Given the description of an element on the screen output the (x, y) to click on. 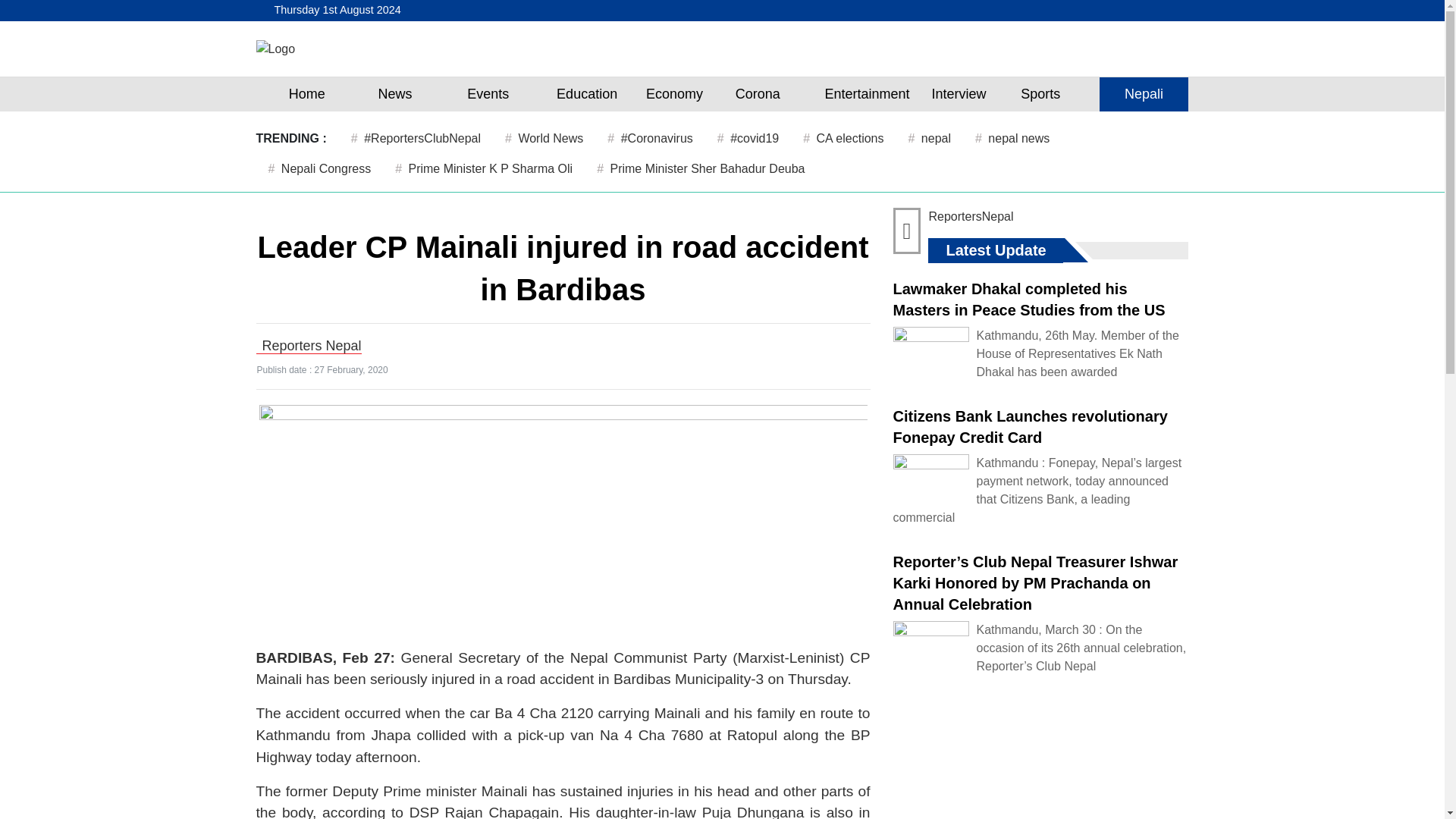
Events (488, 93)
Thursday 1st August 2024 (334, 10)
Entertainment (866, 93)
Economy (674, 93)
Posts by Reporters Nepal (311, 345)
Education (587, 93)
Sports (1040, 93)
News (394, 93)
Reporters Nepal (311, 345)
Interview (958, 93)
Nepali (1144, 93)
Corona (756, 93)
Home (307, 93)
ReportersNepal (970, 215)
